Given the description of an element on the screen output the (x, y) to click on. 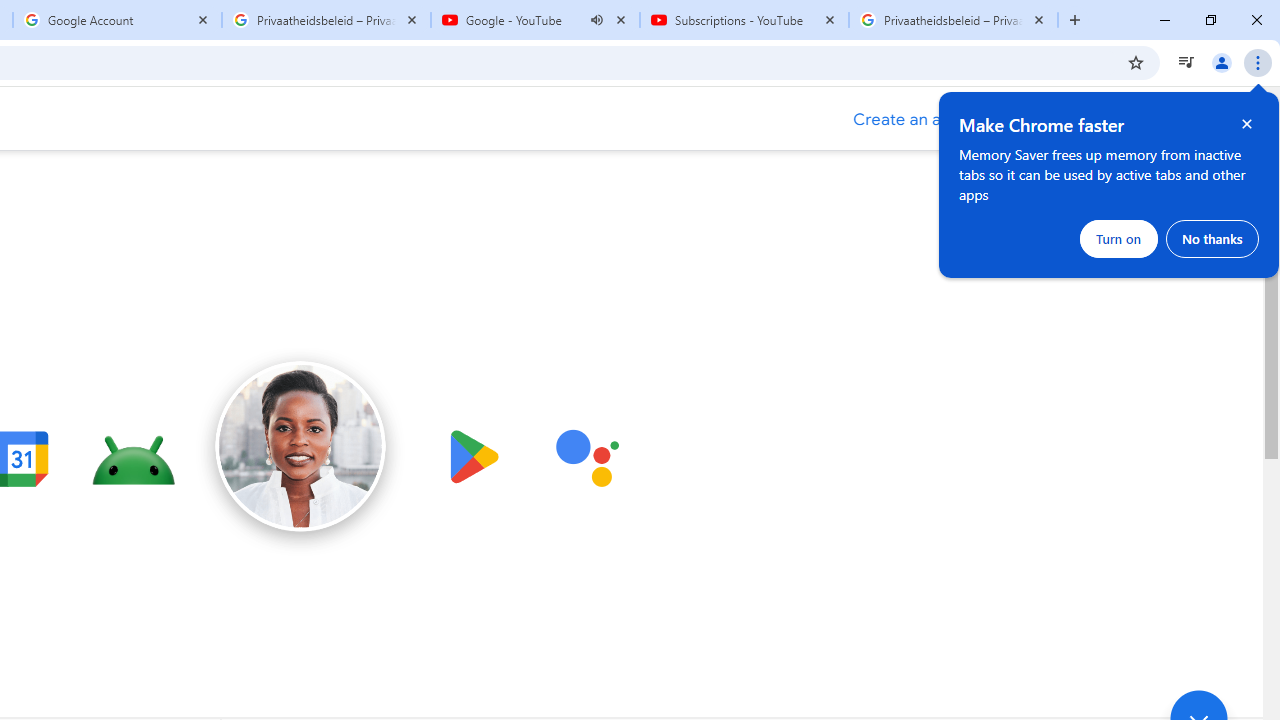
Subscriptions - YouTube (744, 20)
Go to your Google Account (1144, 119)
Create a Google Account (923, 119)
Google Account (116, 20)
Turn on (1119, 238)
No thanks (1212, 238)
Google - YouTube - Audio playing (535, 20)
